Given the description of an element on the screen output the (x, y) to click on. 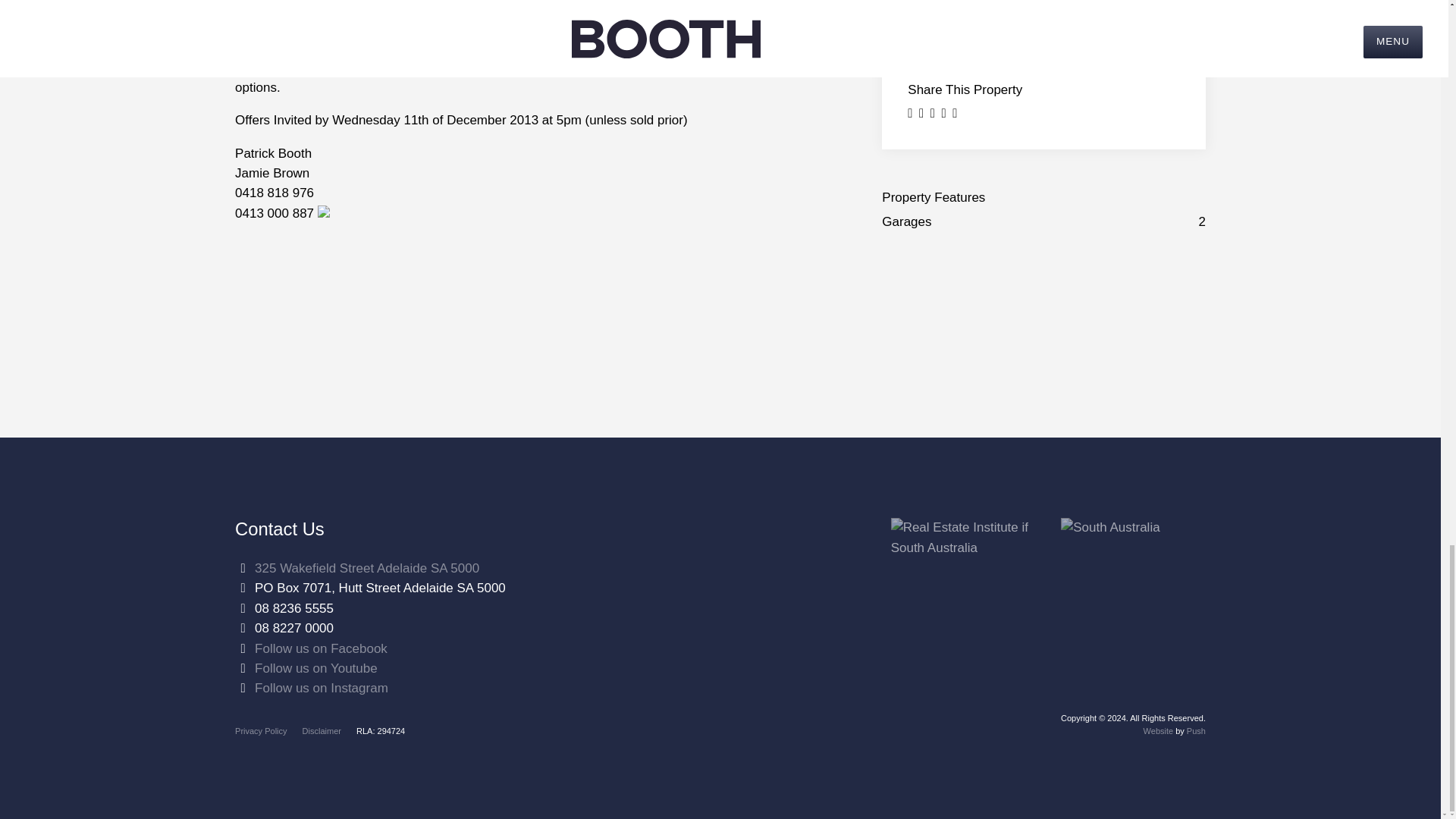
Follow us on Youtube (315, 667)
Follow us on Facebook (320, 648)
Follow us on Instagram (321, 687)
Disclaimer (321, 730)
325 Wakefield Street Adelaide SA 5000 (366, 568)
Privacy Policy (260, 730)
